Given the description of an element on the screen output the (x, y) to click on. 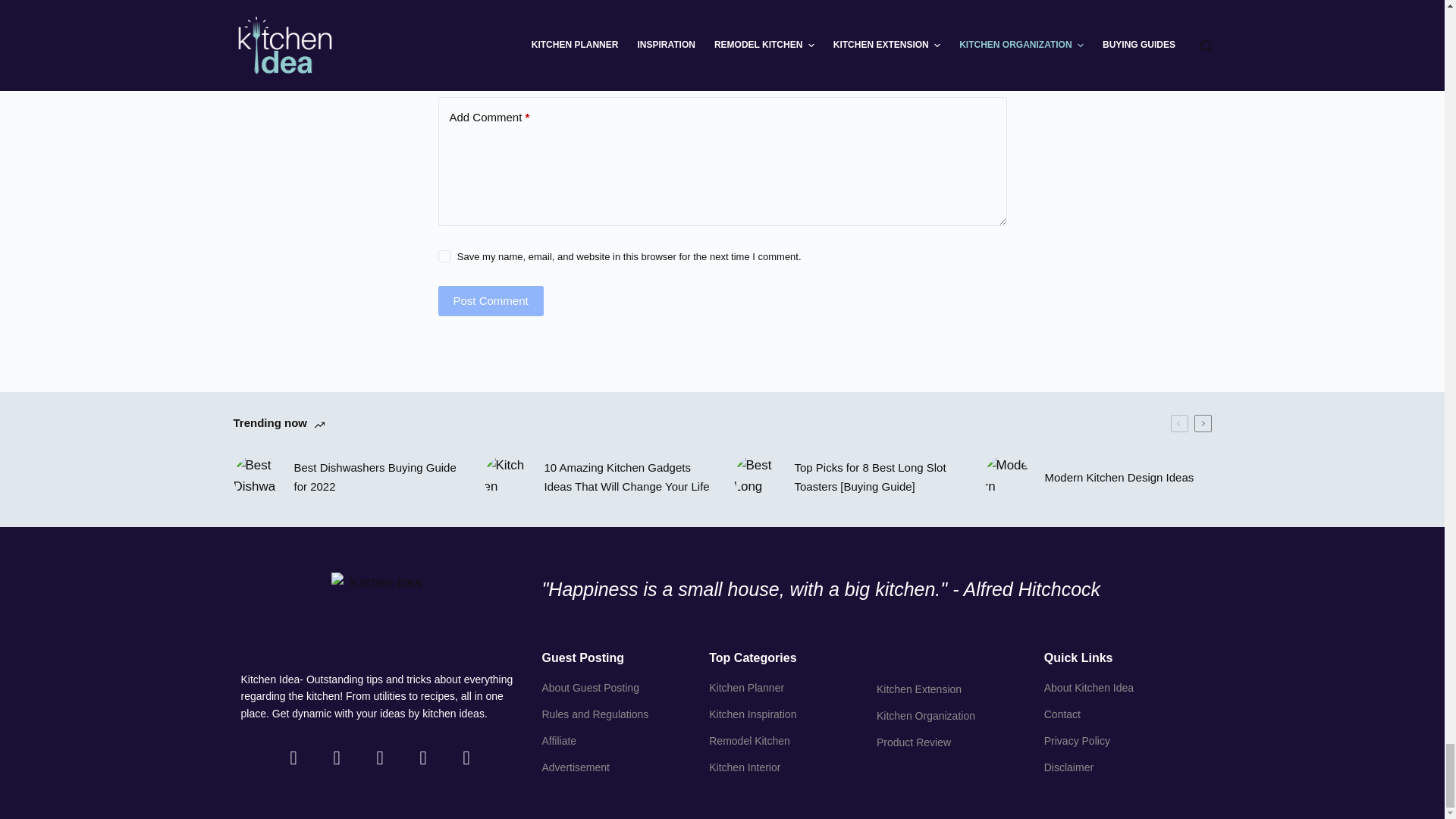
yes (443, 256)
